Given the description of an element on the screen output the (x, y) to click on. 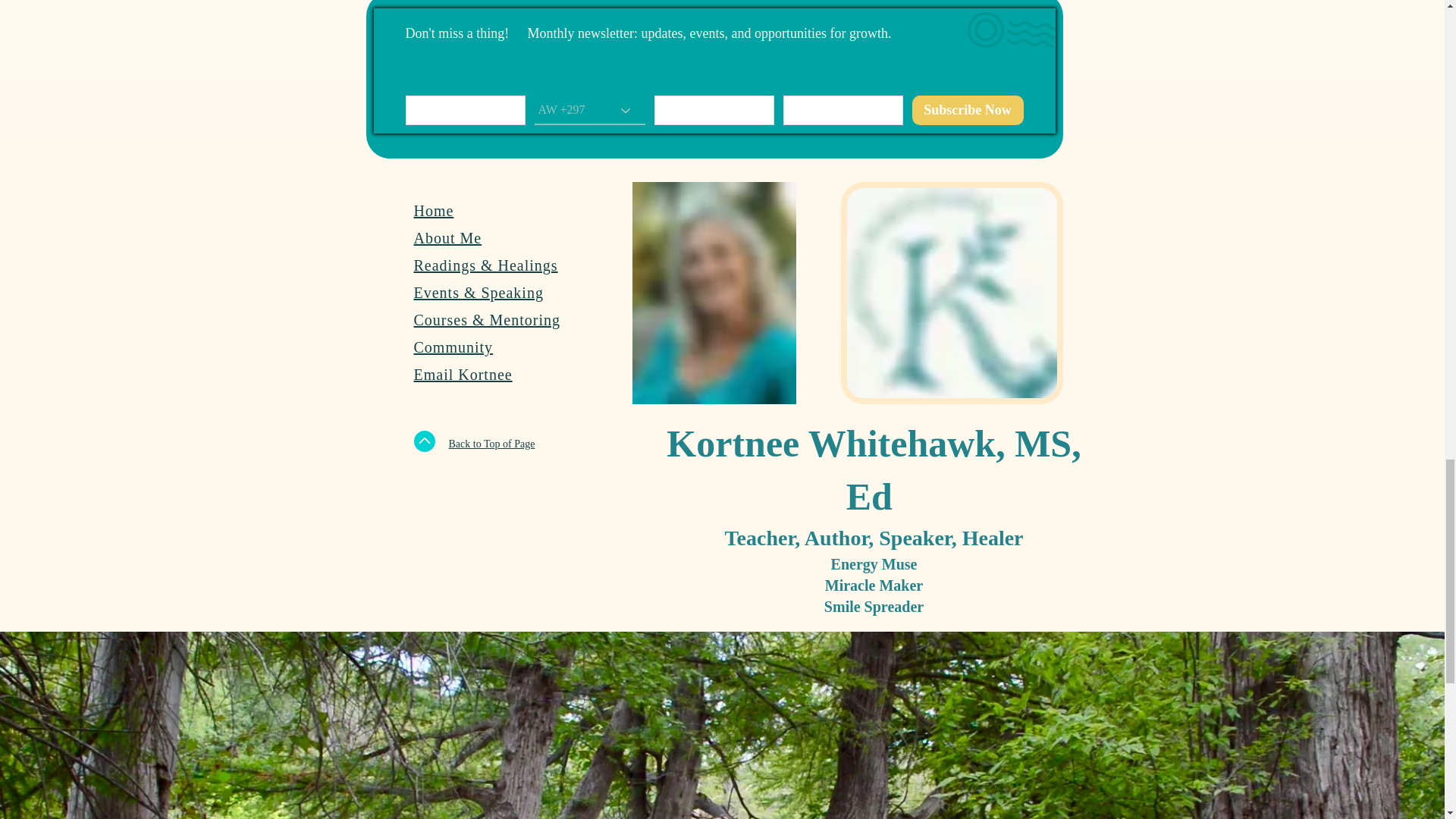
Home (433, 210)
Subscribe Now (967, 110)
Community (453, 347)
About Me (447, 238)
